Given the description of an element on the screen output the (x, y) to click on. 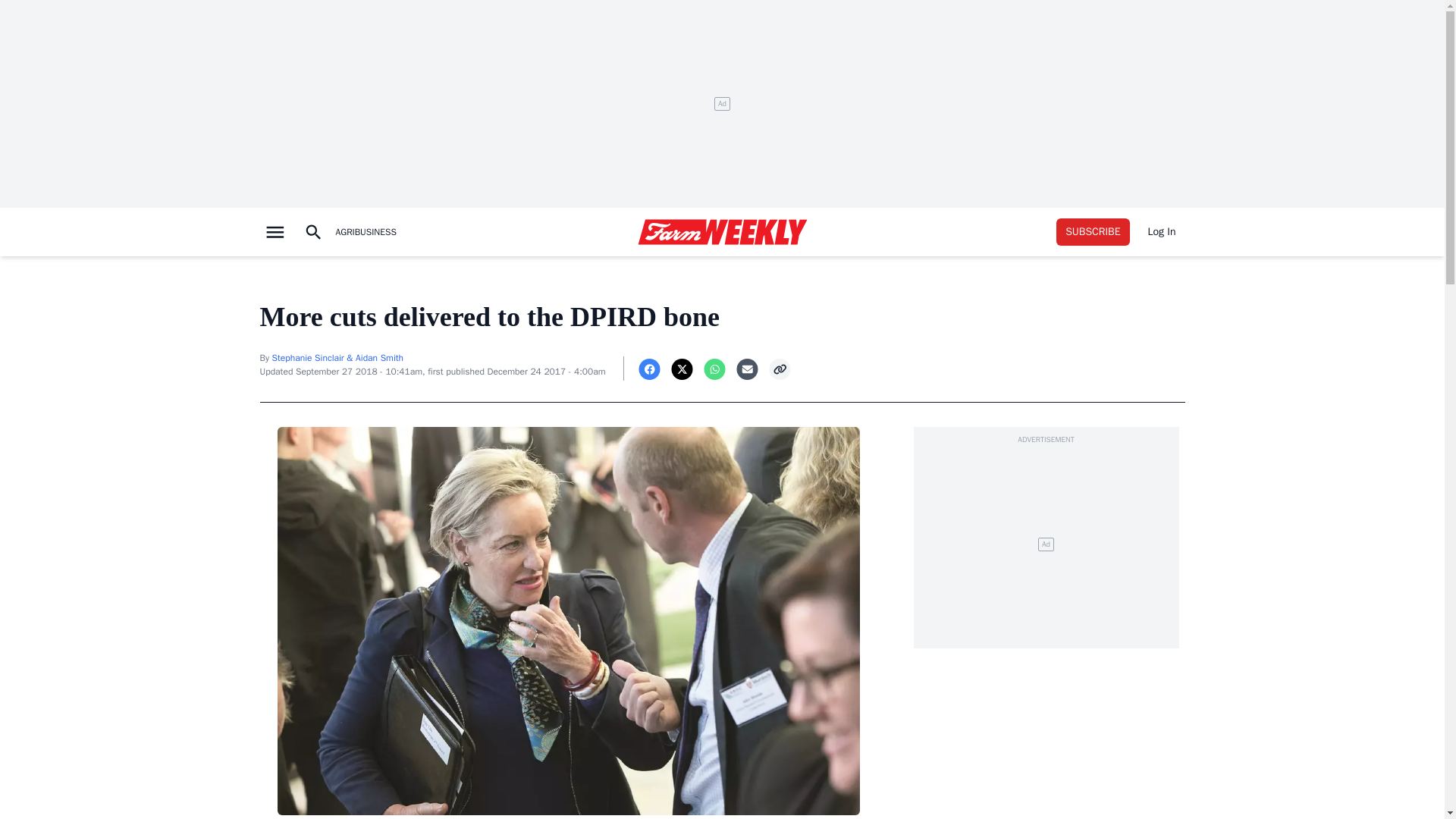
Log In (1161, 231)
AGRIBUSINESS (365, 232)
SUBSCRIBE (1093, 231)
